Given the description of an element on the screen output the (x, y) to click on. 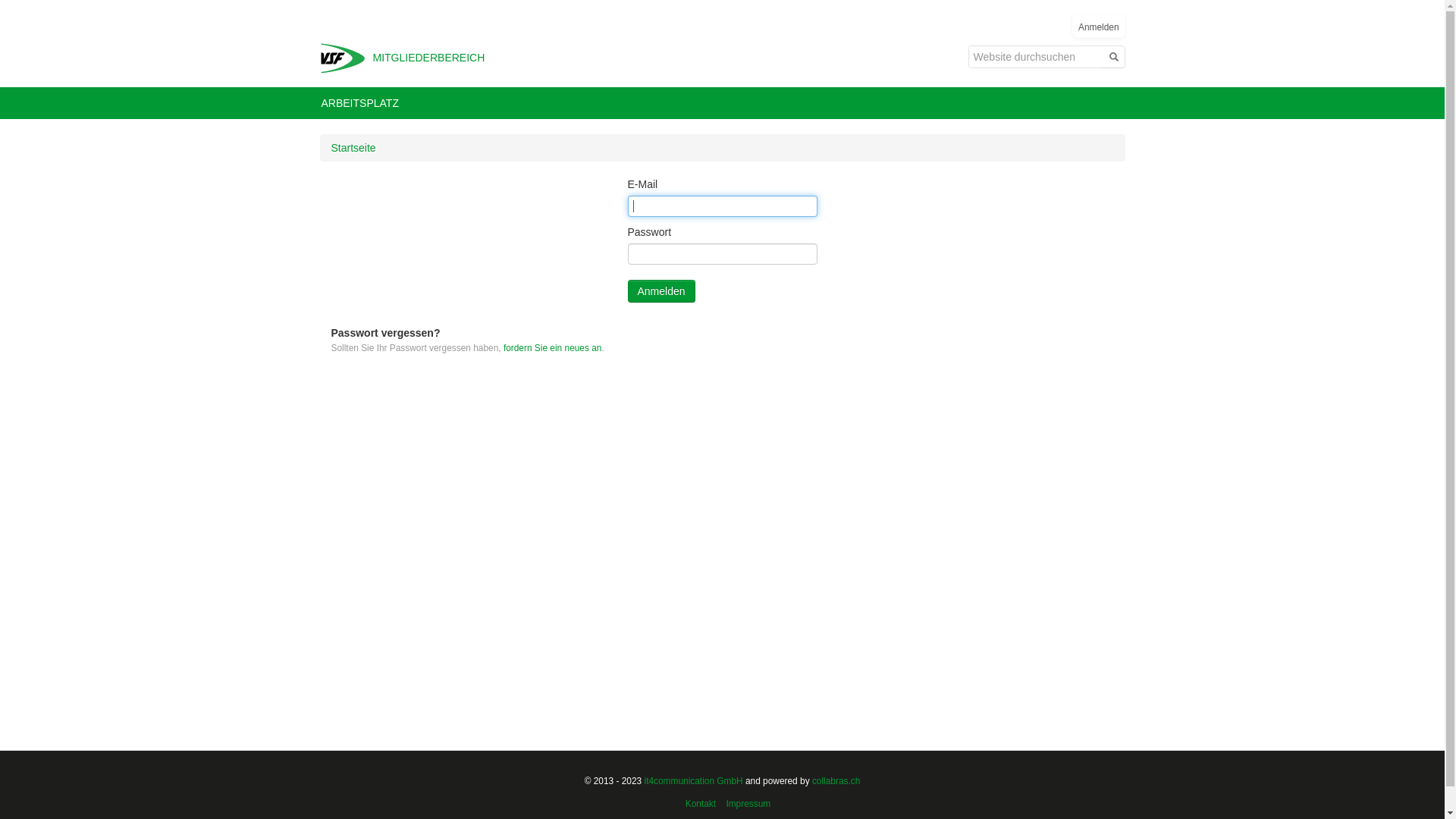
fordern Sie ein neues an Element type: text (552, 347)
Kontakt Element type: text (700, 803)
Website durchsuchen Element type: hover (1033, 56)
it4communication GmbH Element type: text (692, 780)
Startseite Element type: text (352, 147)
ARBEITSPLATZ Element type: text (359, 102)
MITGLIEDERBEREICH Element type: text (342, 56)
Anmelden Element type: text (1098, 26)
VSF Extranet Element type: hover (342, 56)
collabras.ch Element type: text (835, 780)
Impressum Element type: text (747, 803)
Suche Element type: text (1112, 56)
Anmelden Element type: text (661, 290)
